Given the description of an element on the screen output the (x, y) to click on. 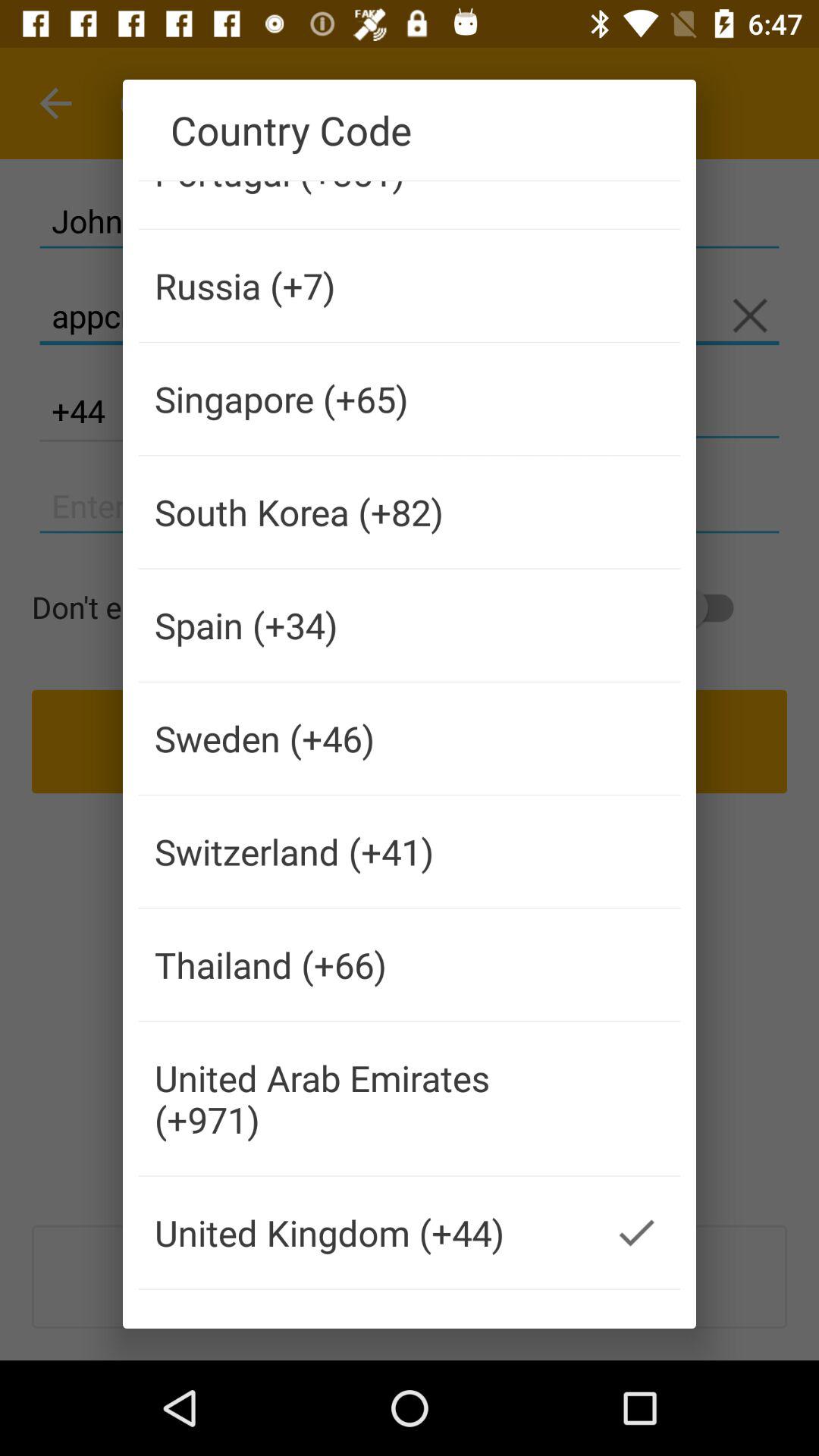
open icon below thailand (+66) item (365, 1098)
